Given the description of an element on the screen output the (x, y) to click on. 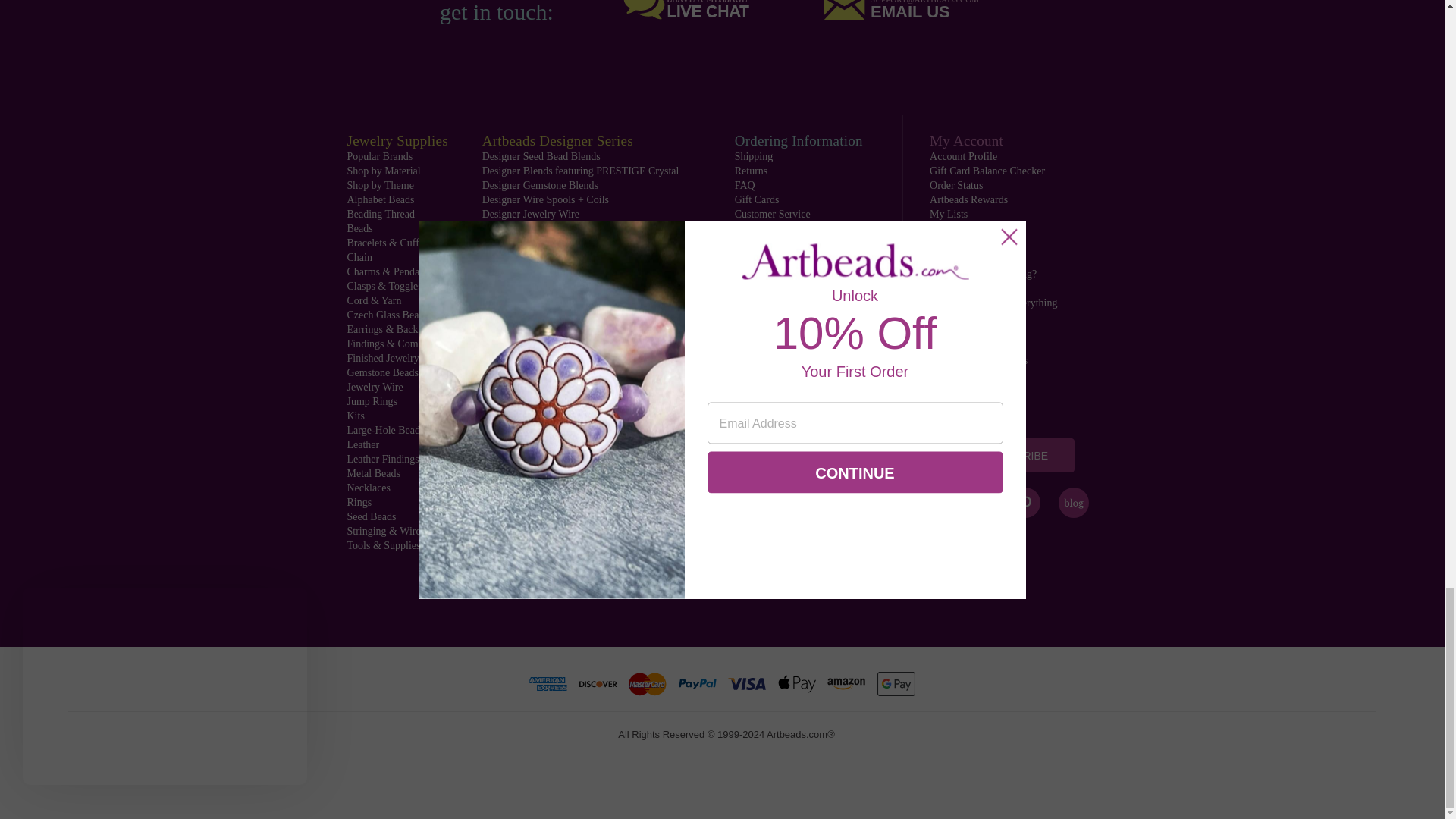
Subscribe (1017, 455)
